Given the description of an element on the screen output the (x, y) to click on. 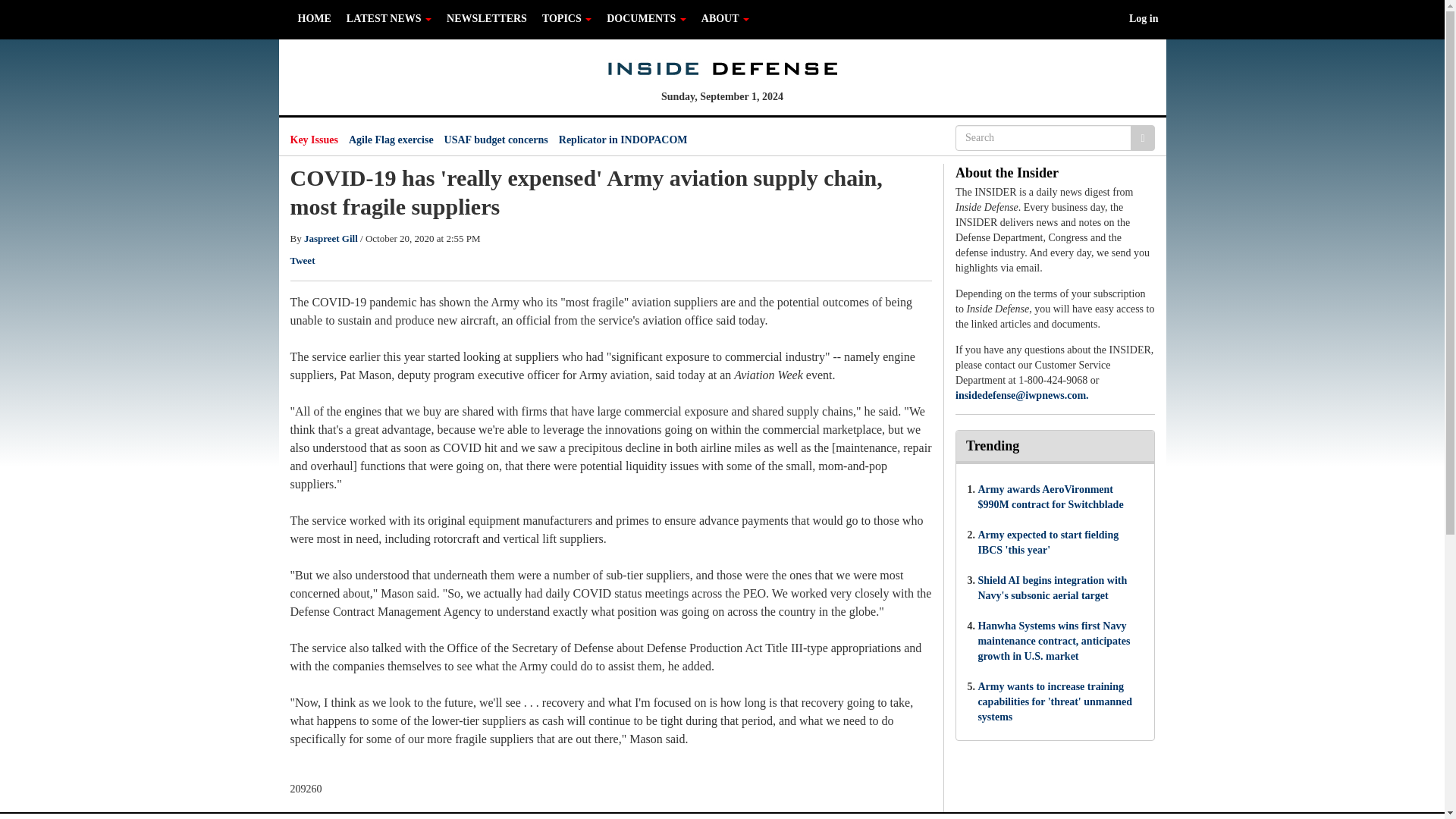
NEWSLETTERS (486, 18)
HOME (313, 18)
LATEST NEWS (389, 18)
DOCUMENTS (646, 18)
TOPICS (566, 18)
